Given the description of an element on the screen output the (x, y) to click on. 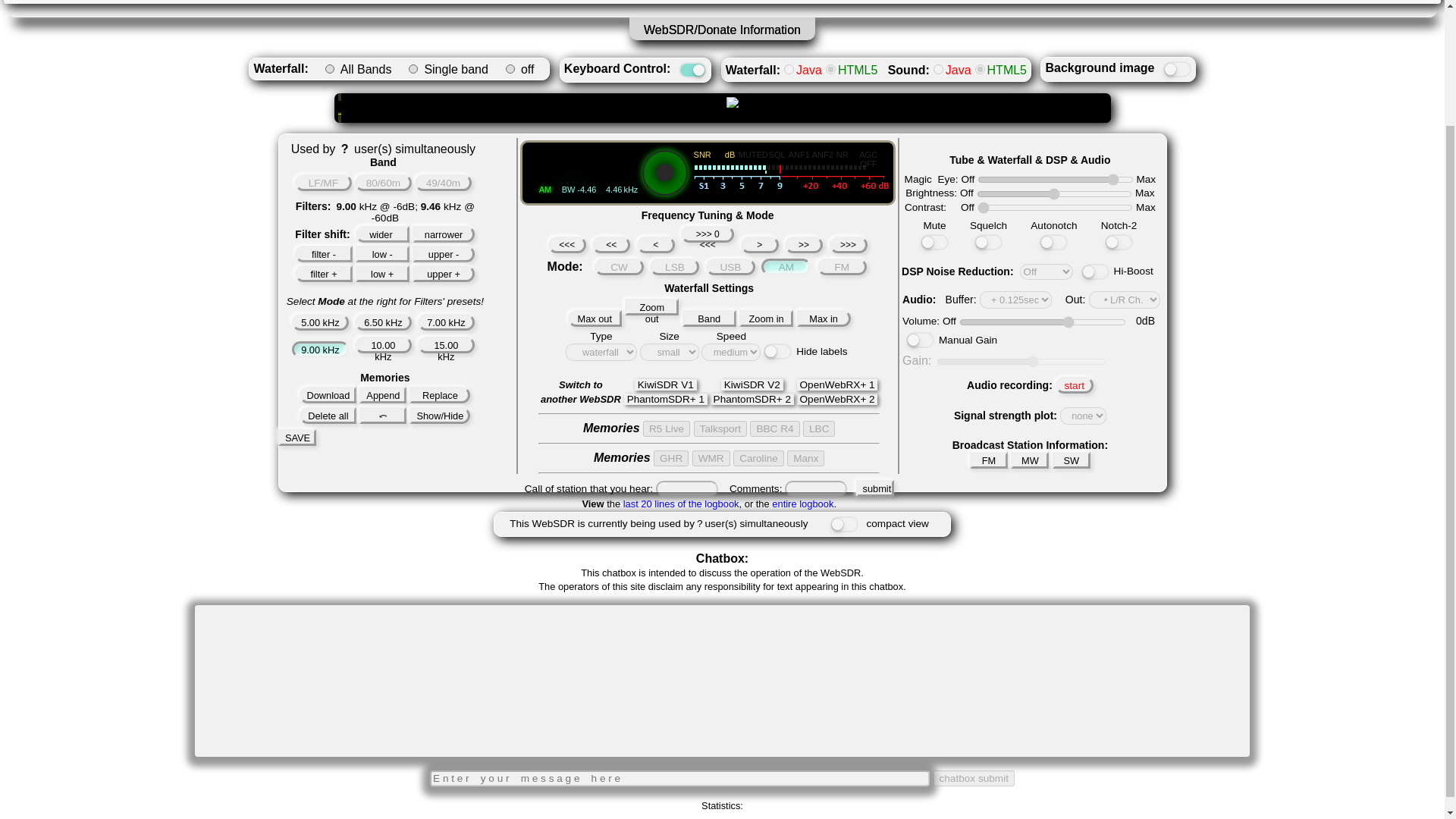
Download (327, 394)
15.00 kHz (445, 344)
7.00 kHz (445, 321)
upper - (444, 253)
6.50 kHz (383, 321)
10.00 kHz (383, 344)
Replace (439, 394)
click to tune (726, 102)
9.00 kHz (320, 349)
Java (788, 69)
filter - (323, 253)
5.00 kHz (320, 321)
HTML5 (830, 69)
low - (382, 253)
Java (938, 69)
